Given the description of an element on the screen output the (x, y) to click on. 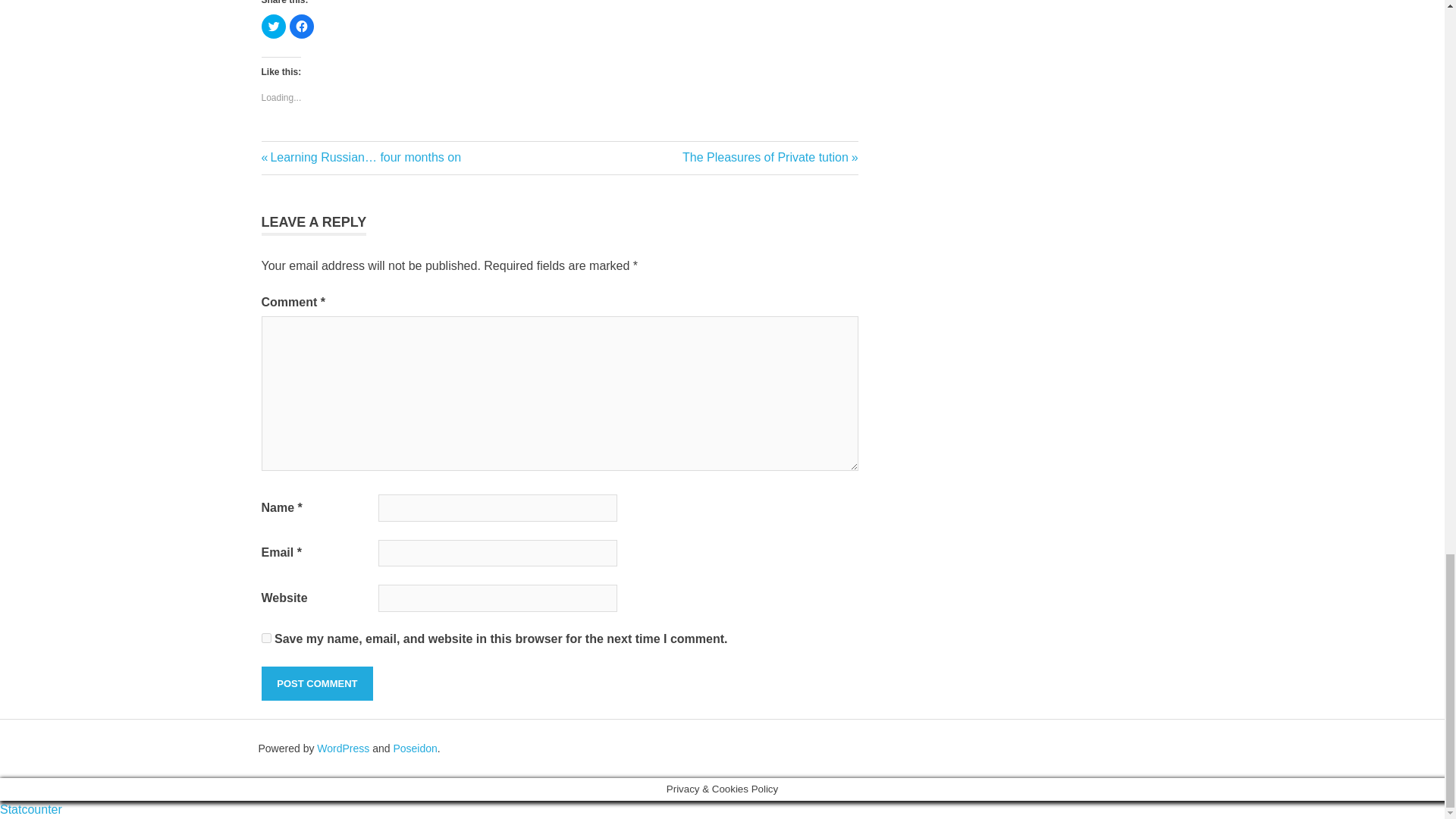
WordPress (343, 748)
Poseidon WordPress Theme (414, 748)
Click to share on Twitter (272, 26)
Post Comment (316, 683)
yes (265, 637)
WordPress (343, 748)
Poseidon (414, 748)
Post Comment (316, 683)
Click to share on Facebook (301, 26)
Statcounter (770, 156)
